Given the description of an element on the screen output the (x, y) to click on. 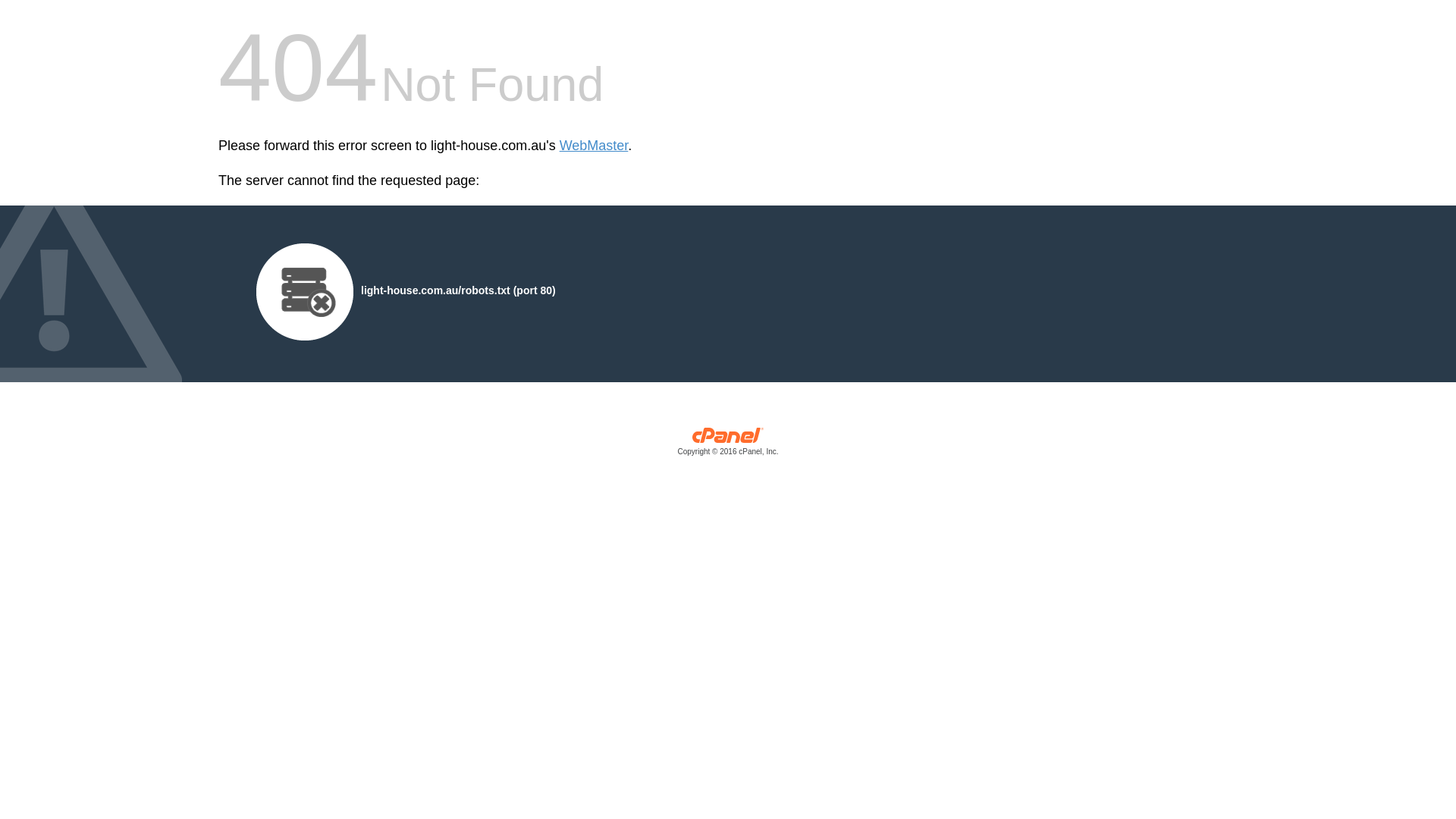
WebMaster Element type: text (593, 145)
